Given the description of an element on the screen output the (x, y) to click on. 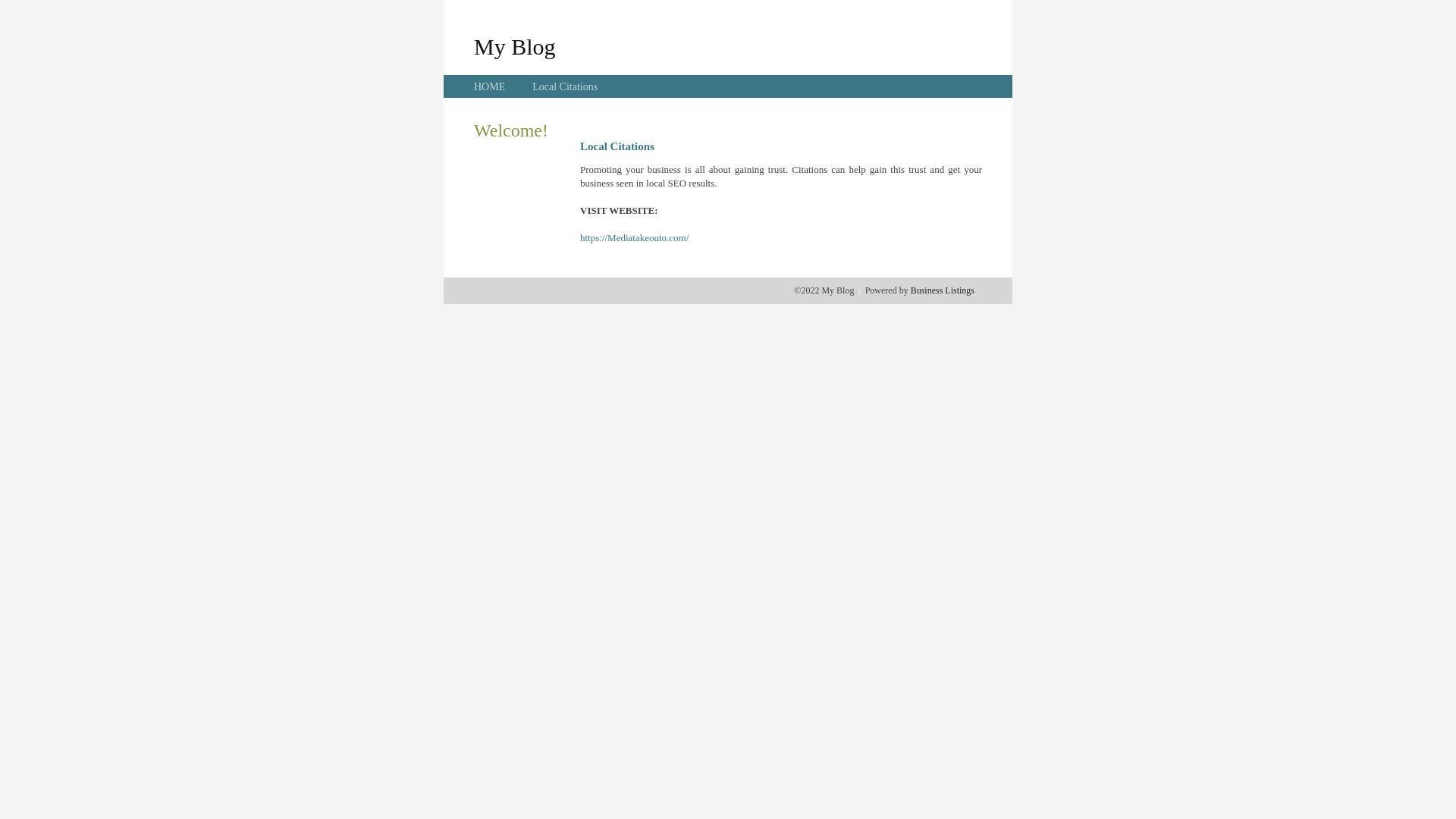
https://Mediatakeouto.com/ Element type: text (634, 237)
HOME Element type: text (489, 86)
Business Listings Element type: text (942, 290)
My Blog Element type: text (514, 46)
Local Citations Element type: text (564, 86)
